Given the description of an element on the screen output the (x, y) to click on. 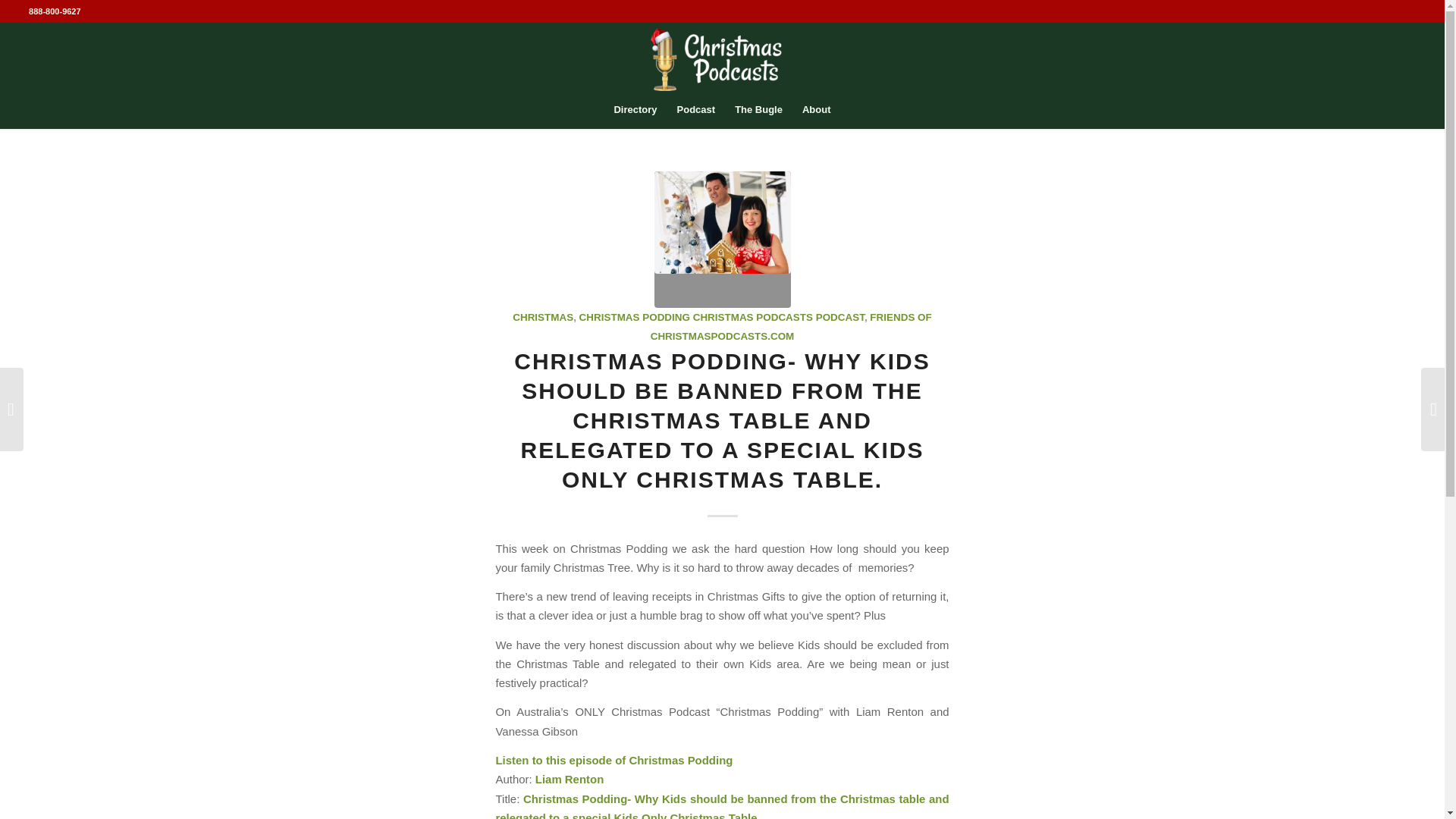
FRIENDS OF CHRISTMASPODCASTS.COM (790, 327)
Podcast (695, 109)
CHRISTMAS (542, 317)
christmaspodding (721, 239)
Listen to this episode of Christmas Podding (614, 759)
CHRISTMAS PODDING (634, 317)
Directory (635, 109)
About (816, 109)
CHRISTMAS PODCASTS PODCAST (778, 317)
The Bugle (758, 109)
